Given the description of an element on the screen output the (x, y) to click on. 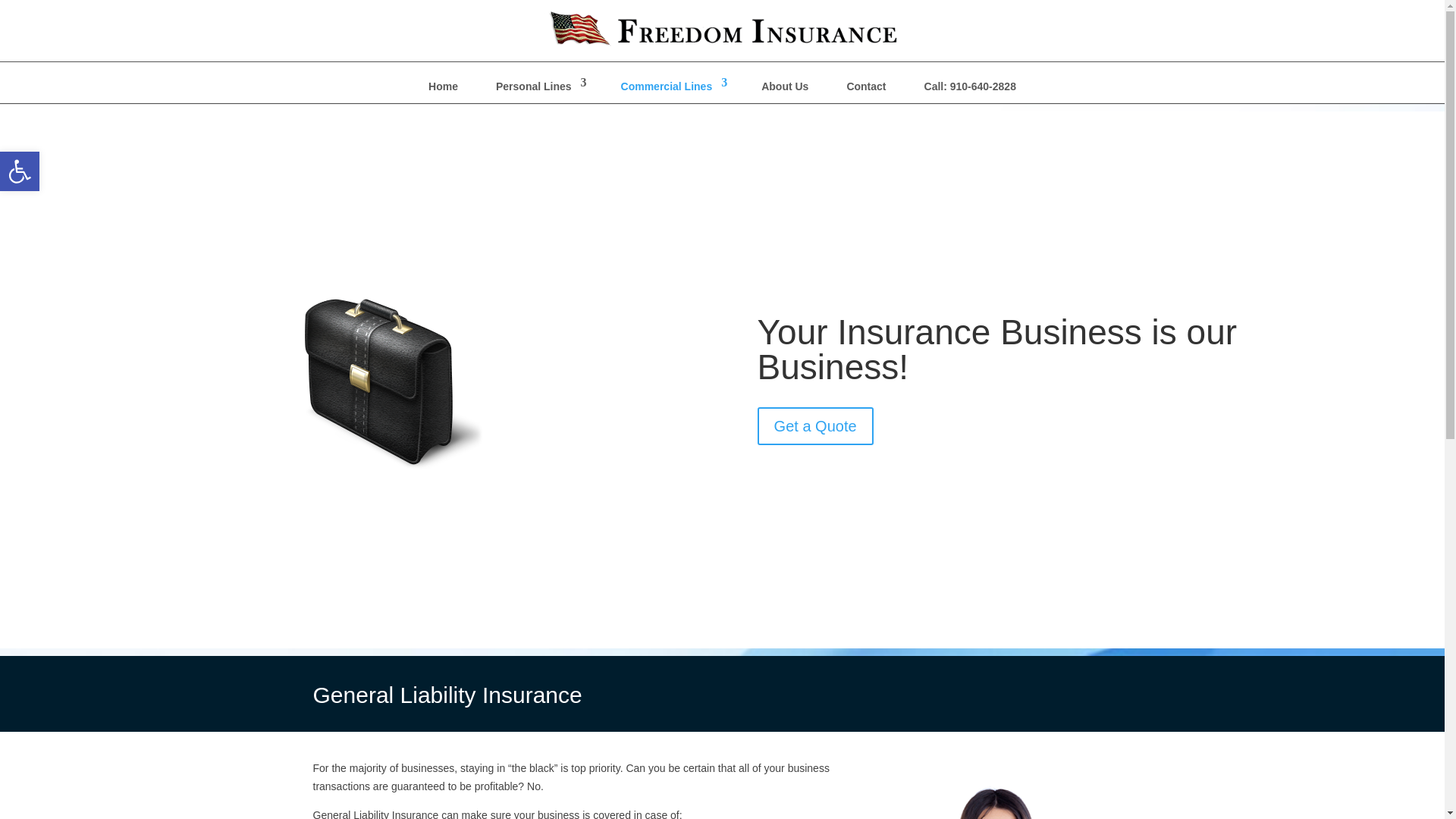
Your Insurance Business is our Business! (19, 170)
Commercial Lines (996, 350)
Accessibility Tools (672, 89)
Personal Lines (19, 170)
Get a Quote (539, 89)
Call: 910-640-2828 (815, 426)
About Us (970, 89)
Home (784, 89)
Accessibility Tools (443, 89)
